Given the description of an element on the screen output the (x, y) to click on. 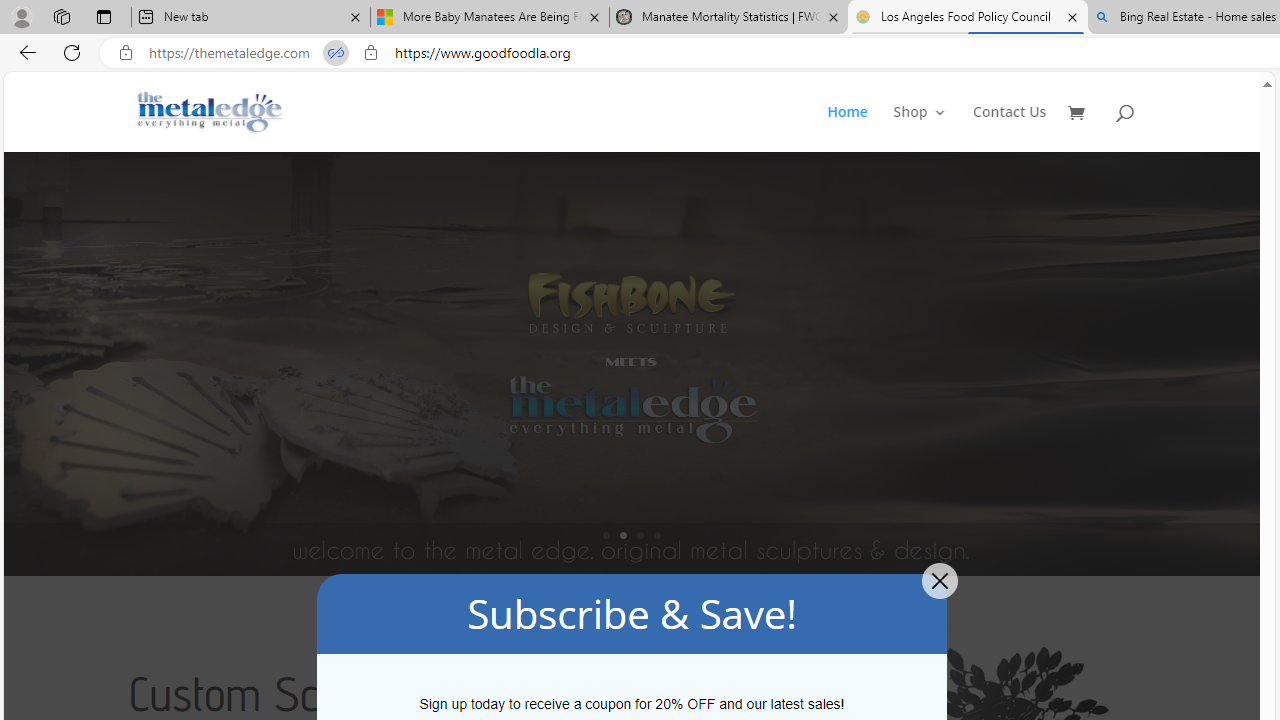
2 (623, 535)
Metal Fish Sculptures & Metal Designs (210, 111)
Los Angeles Food Policy Council (967, 17)
Metal Fish Sculptures & Metal Designs (210, 111)
3 (640, 535)
Shop 3 (920, 128)
4 (657, 535)
